Given the description of an element on the screen output the (x, y) to click on. 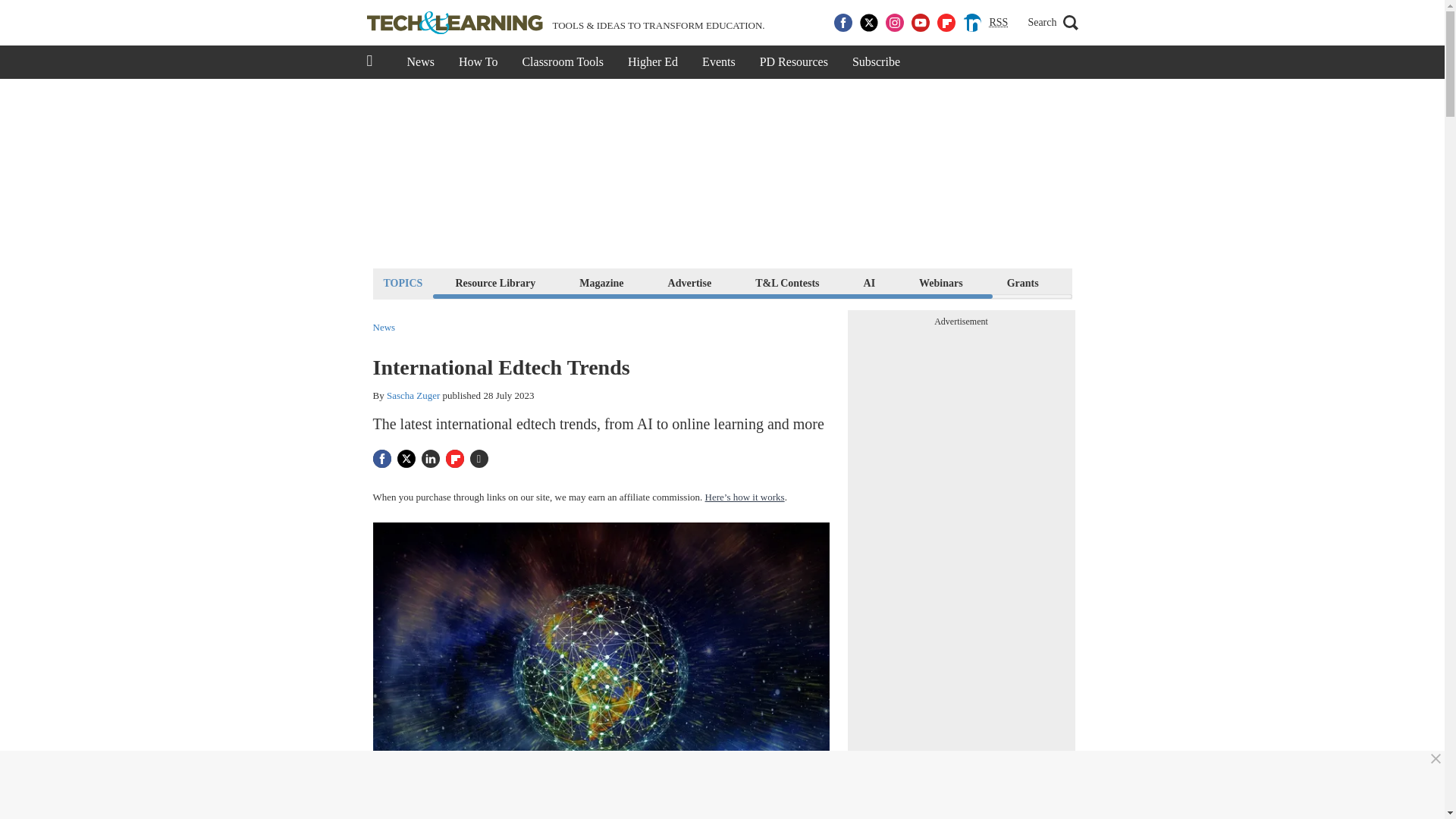
What to Buy (1111, 282)
Higher Ed (652, 61)
Classroom Tools (561, 61)
Webinars (941, 282)
Events (719, 61)
Advertise (689, 282)
Subscribe (876, 61)
Resource Library (494, 282)
Really Simple Syndication (997, 21)
Advertisement (961, 427)
Sascha Zuger (413, 395)
News (419, 61)
